Given the description of an element on the screen output the (x, y) to click on. 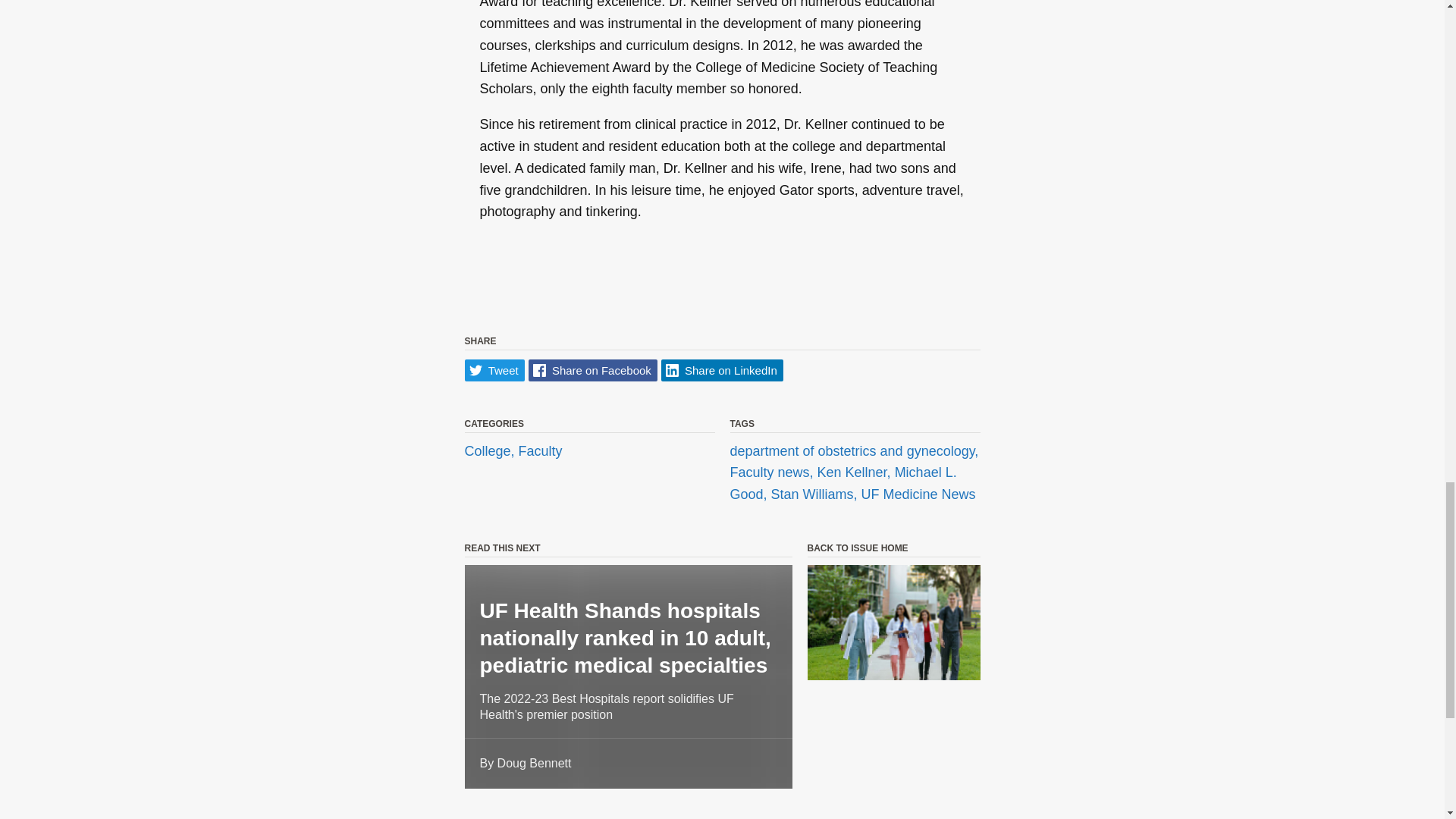
Share on LinkedIn (722, 370)
Tweet (494, 370)
Michael L. Good, (842, 484)
College, (491, 450)
UF Medicine News (918, 494)
Share on Facebook (593, 370)
Faculty (540, 450)
Ken Kellner, (855, 473)
Stan Williams, (816, 494)
department of obstetrics and gynecology, (853, 450)
Faculty news, (772, 473)
